Given the description of an element on the screen output the (x, y) to click on. 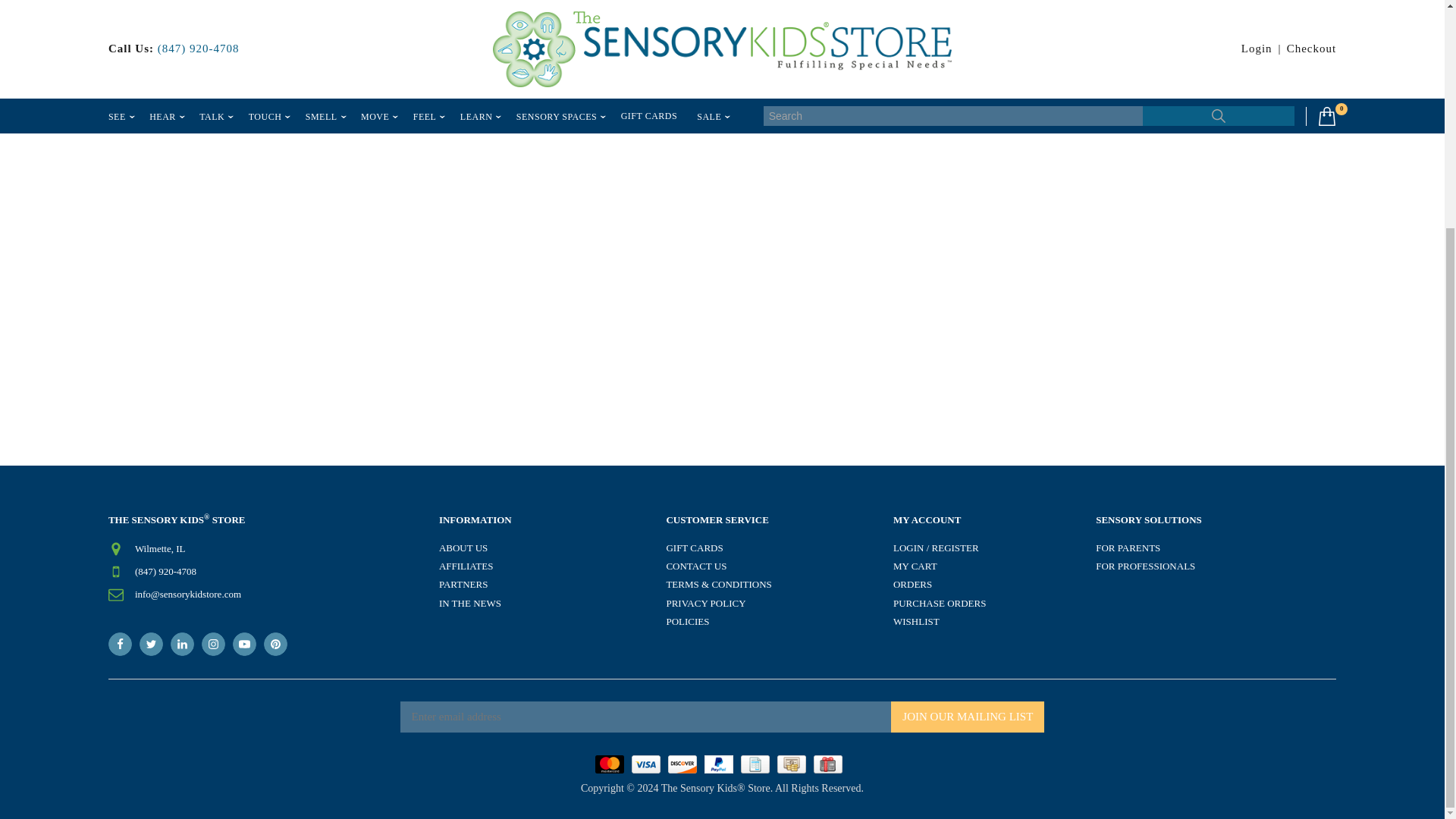
Join Our Mailing List (967, 716)
Search (912, 105)
